Given the description of an element on the screen output the (x, y) to click on. 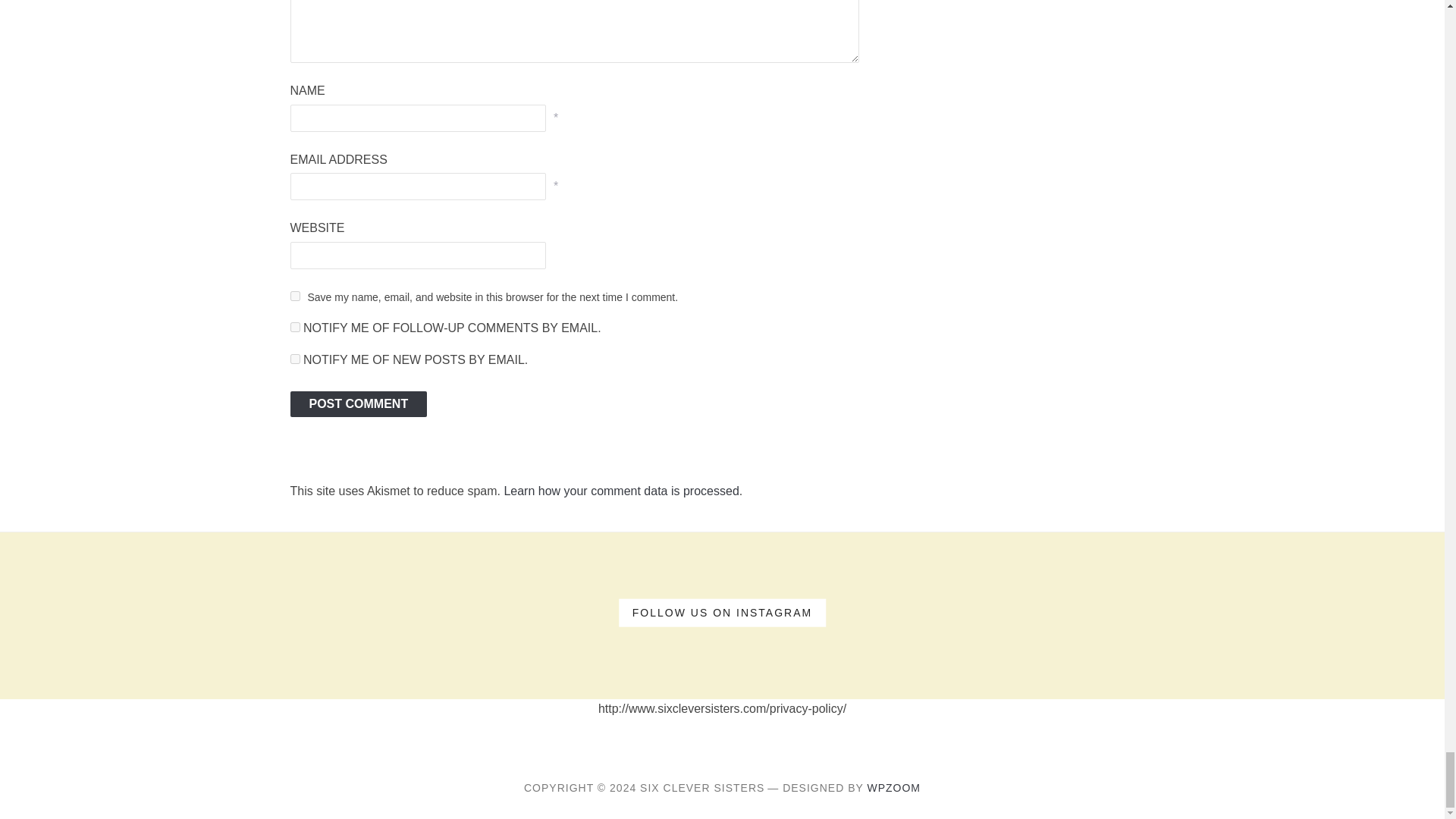
subscribe (294, 358)
subscribe (294, 327)
yes (294, 296)
Post Comment (357, 403)
